Given the description of an element on the screen output the (x, y) to click on. 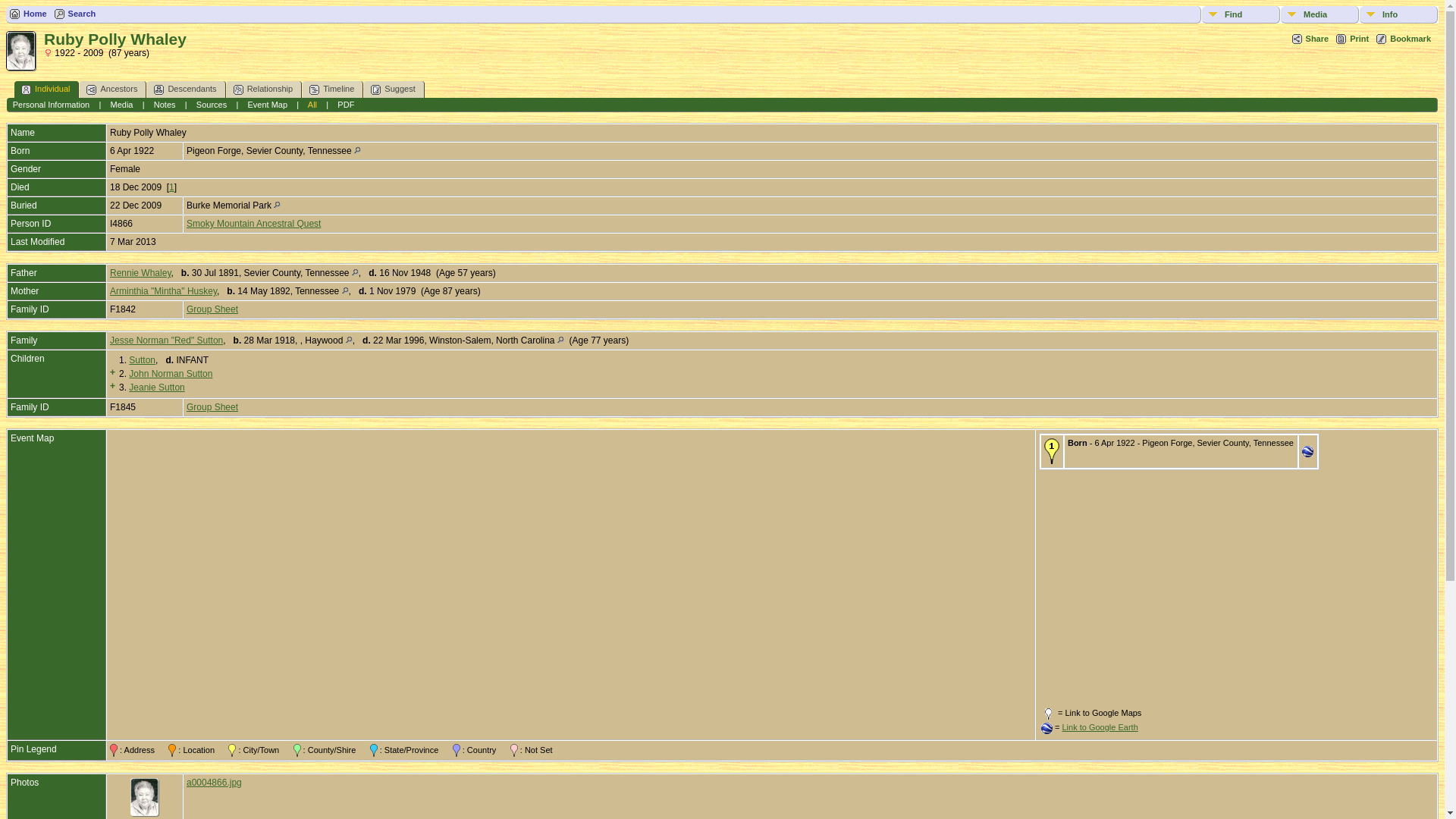
Home (28, 14)
Descendants (186, 89)
Share (1310, 39)
Home (28, 14)
Print (1352, 39)
Media (1319, 14)
Bookmark (1403, 39)
Share (1310, 39)
Print (1352, 39)
Find (1240, 14)
Bookmark (1403, 39)
Individual (46, 89)
Search (75, 14)
Search (75, 14)
Ancestors (113, 89)
